Given the description of an element on the screen output the (x, y) to click on. 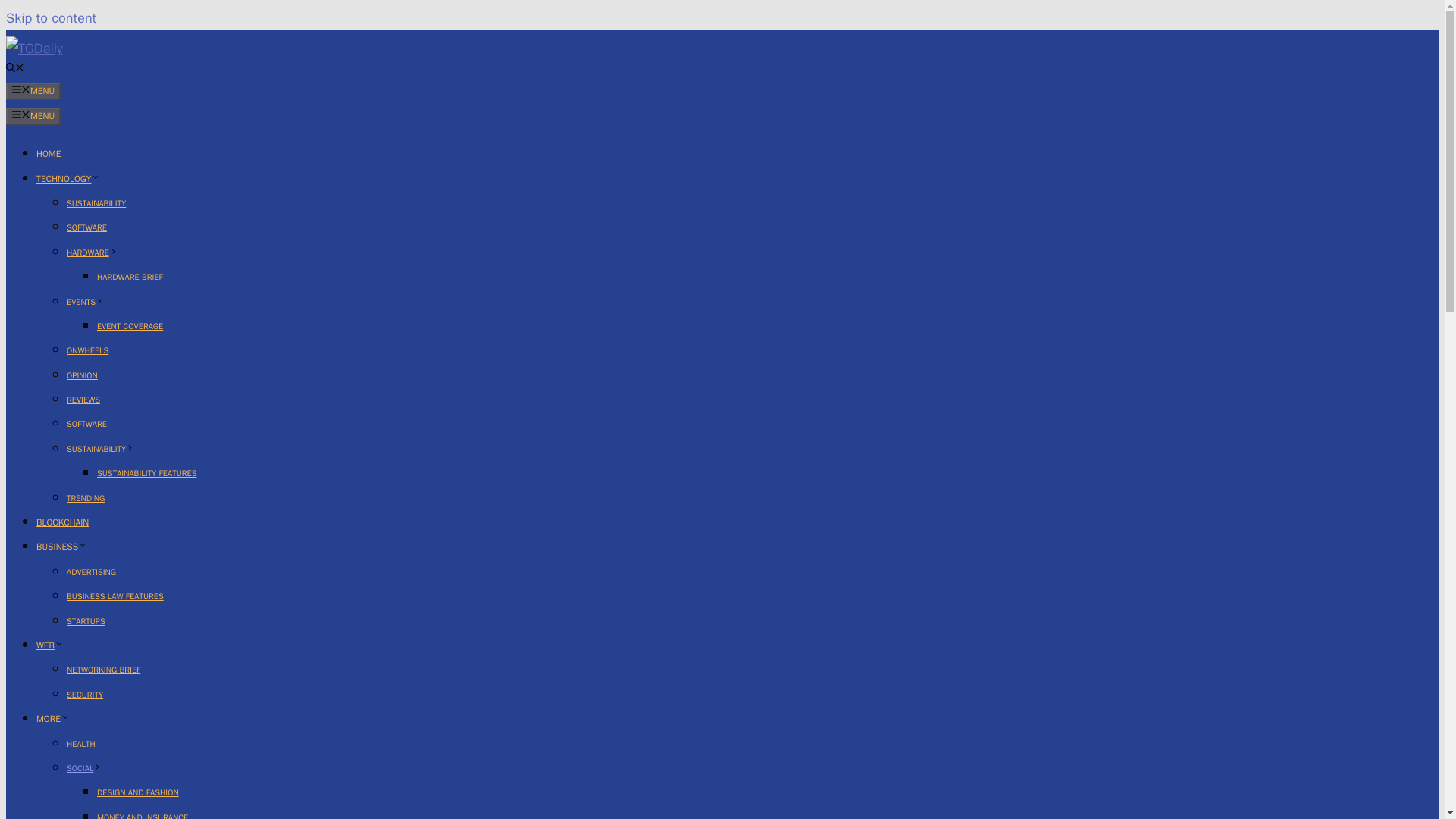
SUSTAINABILITY (99, 448)
REVIEWS (83, 398)
HOME (48, 153)
MENU (33, 90)
MONEY AND INSURANCE (142, 815)
BUSINESS (61, 546)
SOCIAL (83, 767)
SUSTAINABILITY FEATURES (146, 472)
Skip to content (50, 17)
HARDWARE BRIEF (130, 276)
